Given the description of an element on the screen output the (x, y) to click on. 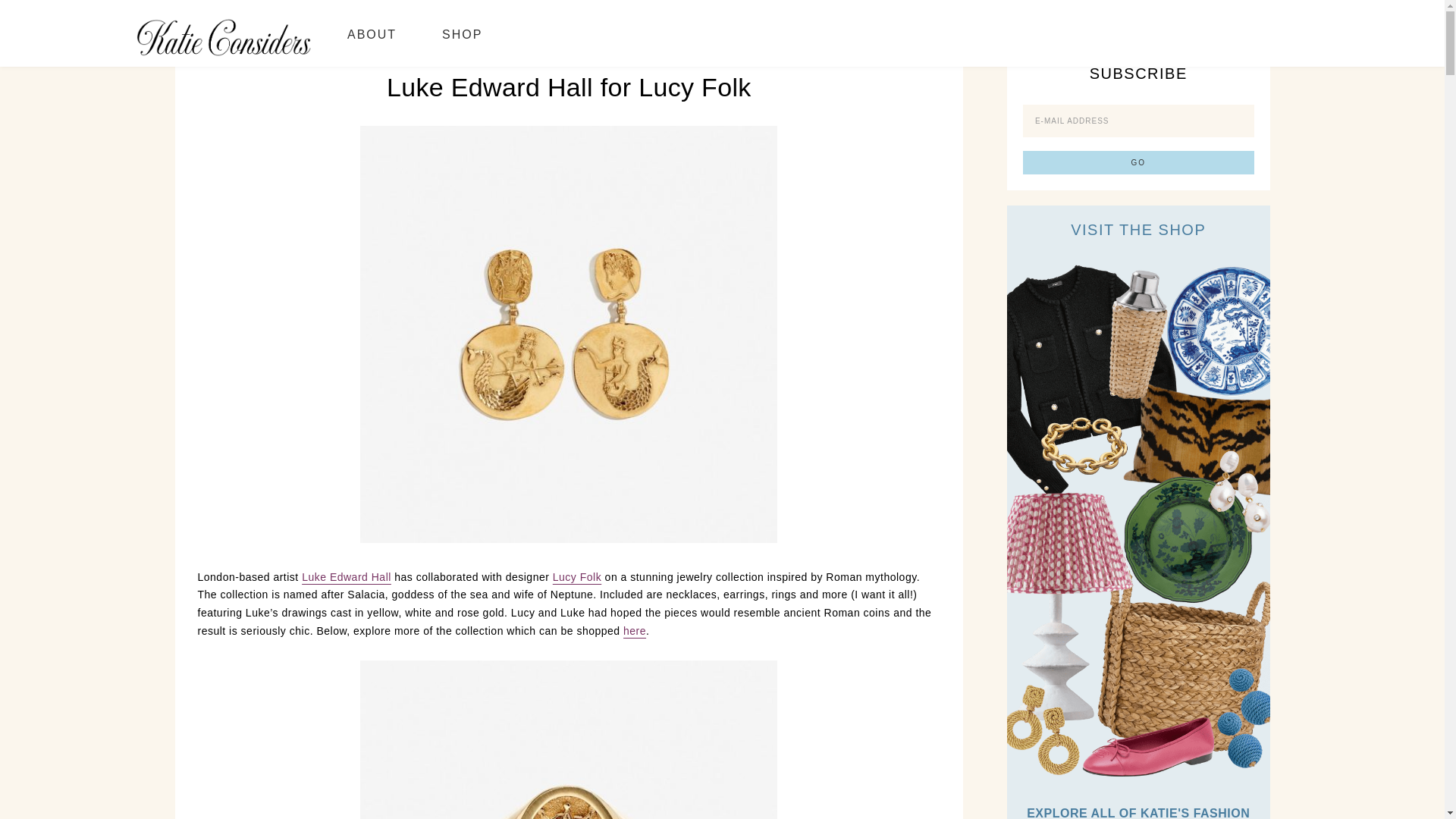
Lucy Folk (577, 576)
Luke Edward Hall (346, 576)
ABOUT (371, 33)
SHOP (462, 33)
Go (1138, 162)
here (634, 630)
